Given the description of an element on the screen output the (x, y) to click on. 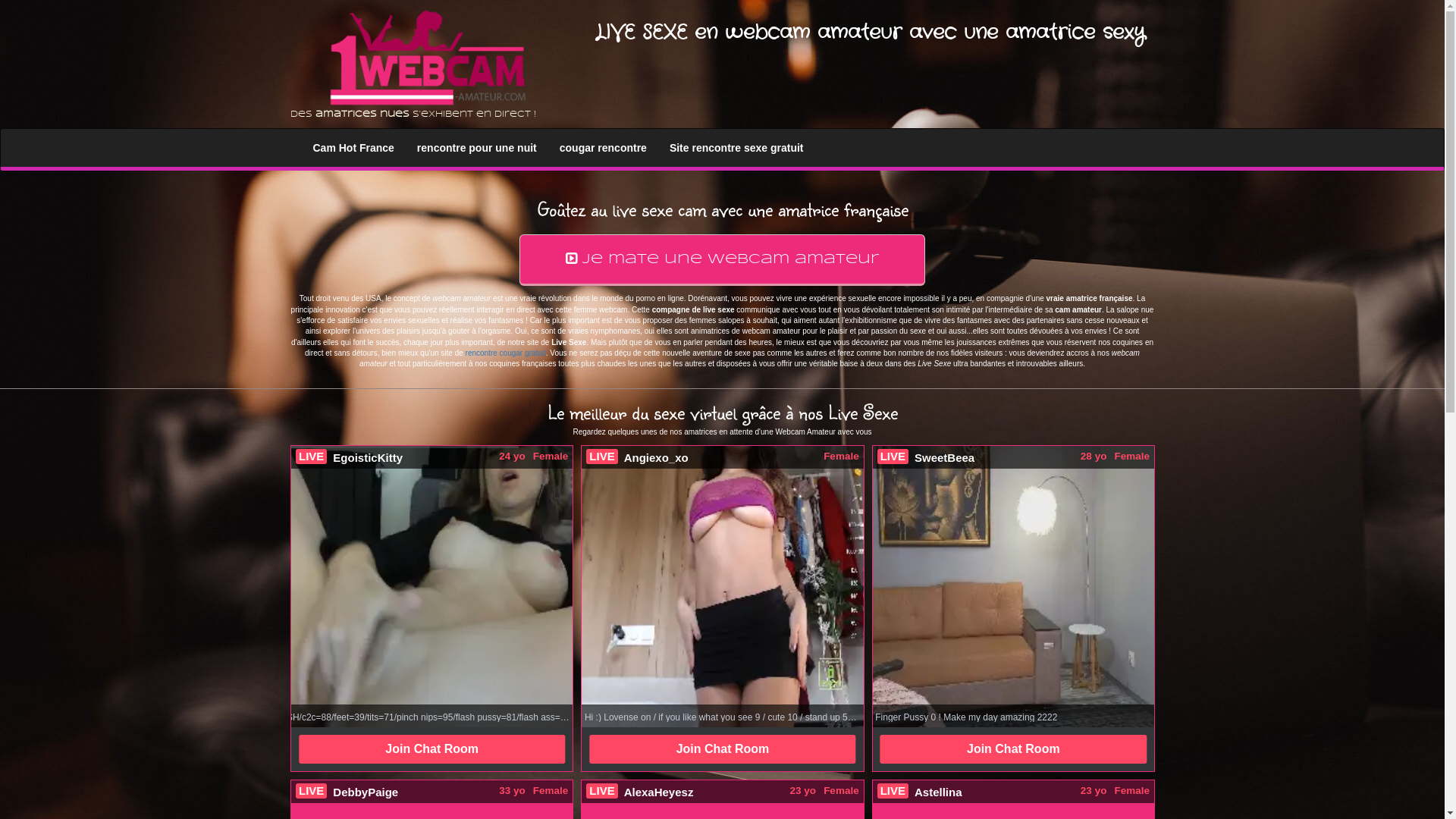
rencontre cougar gratuit Element type: text (505, 352)
Cam Hot France Element type: text (353, 147)
Site rencontre sexe gratuit Element type: text (736, 147)
Je mate une webcam amateur Element type: text (722, 259)
cougar rencontre Element type: text (603, 147)
rencontre pour une nuit Element type: text (476, 147)
